Given the description of an element on the screen output the (x, y) to click on. 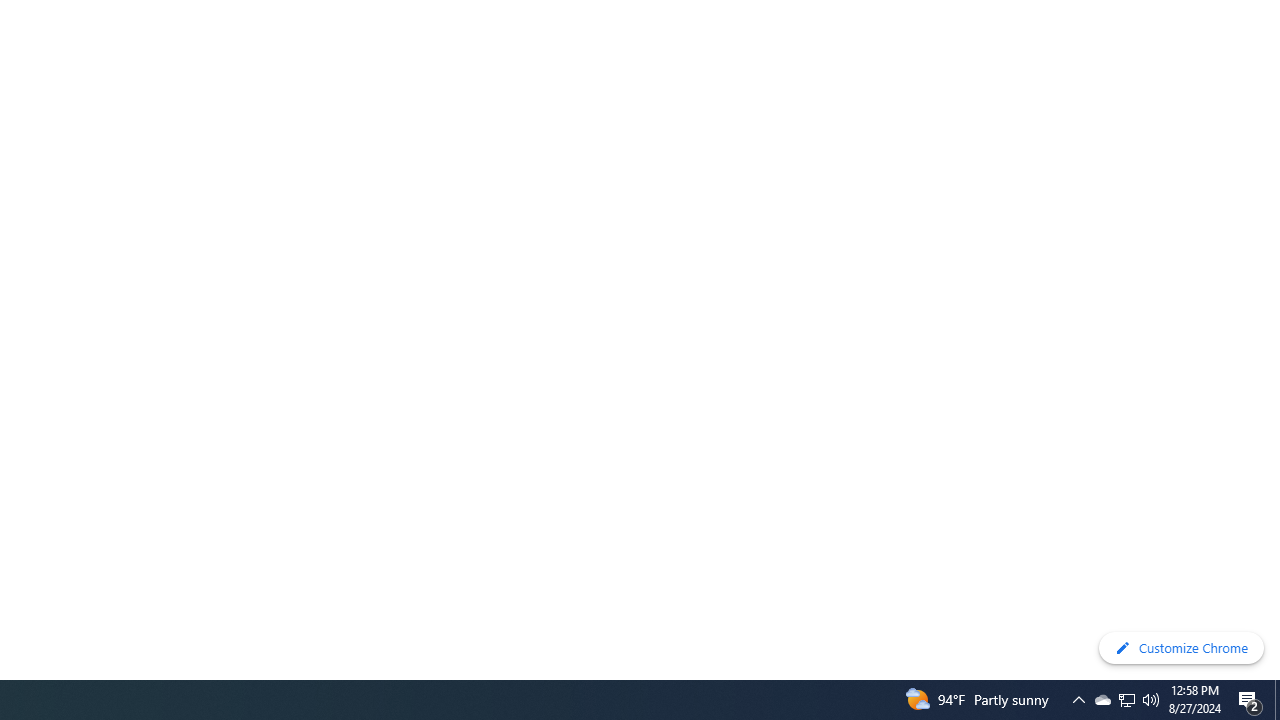
Customize Chrome (1181, 647)
